Given the description of an element on the screen output the (x, y) to click on. 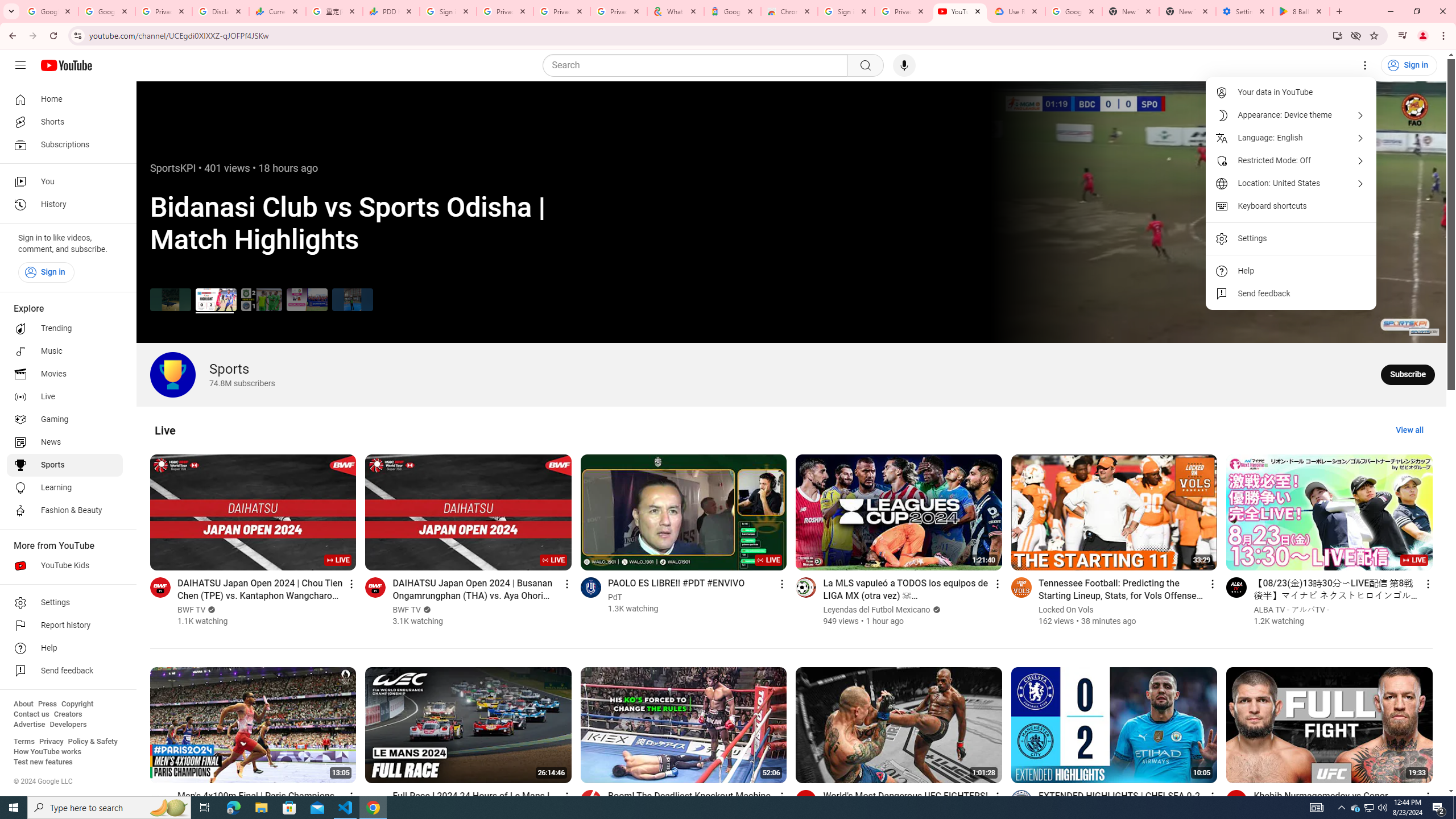
Policy & Safety (91, 741)
Help (1291, 270)
PAOLO ES LIBRE!! #PDT #ENVIVO by PdT 2,268 views (676, 582)
Terms (23, 741)
Location: United States (1291, 182)
